Given the description of an element on the screen output the (x, y) to click on. 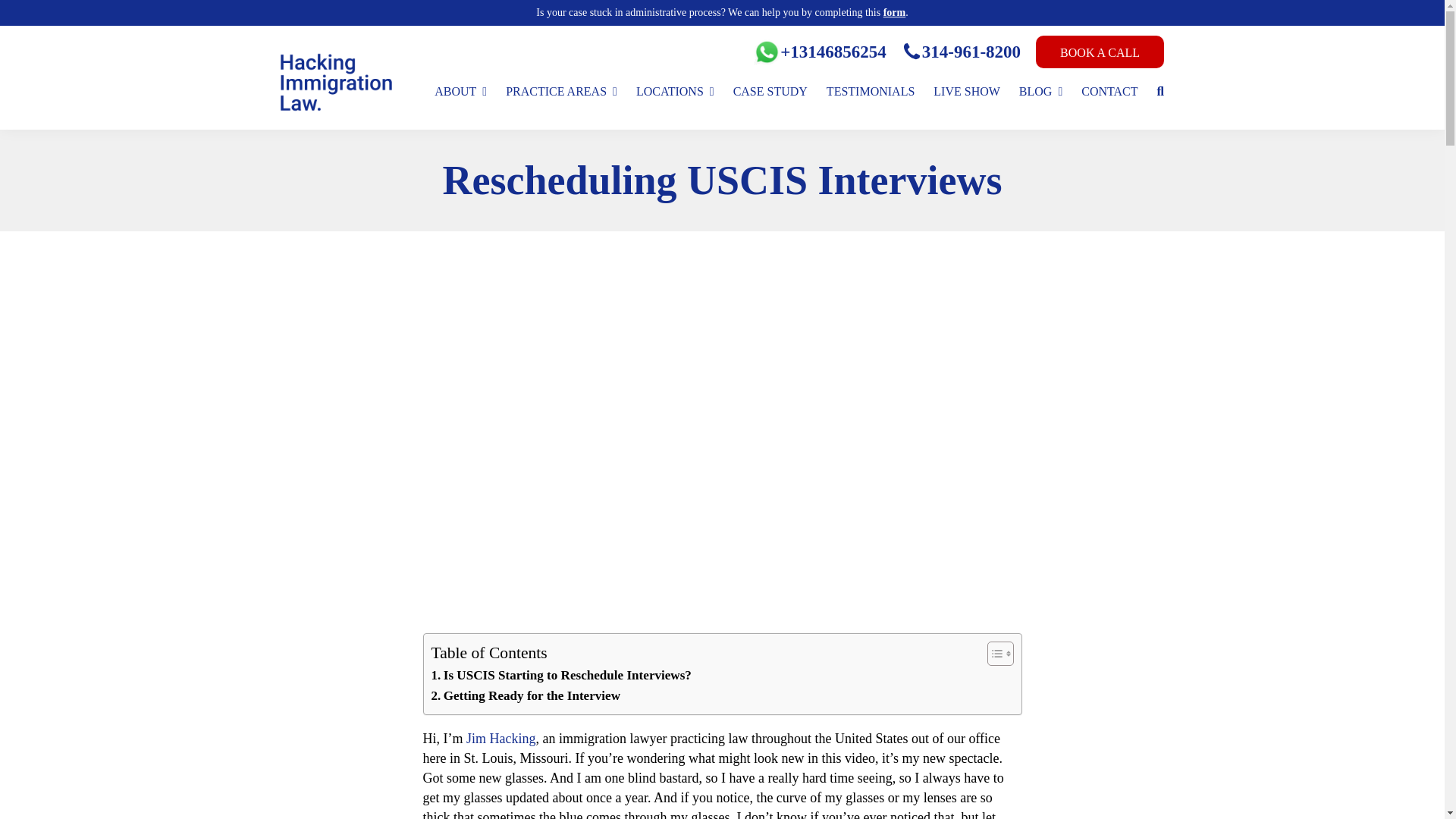
CONTACT (1109, 91)
PRACTICE AREAS (561, 91)
ABOUT (459, 91)
BOOK A CALL (1099, 51)
BLOG (1040, 91)
TESTIMONIALS (870, 91)
form (894, 12)
314-961-8200 (960, 52)
